Given the description of an element on the screen output the (x, y) to click on. 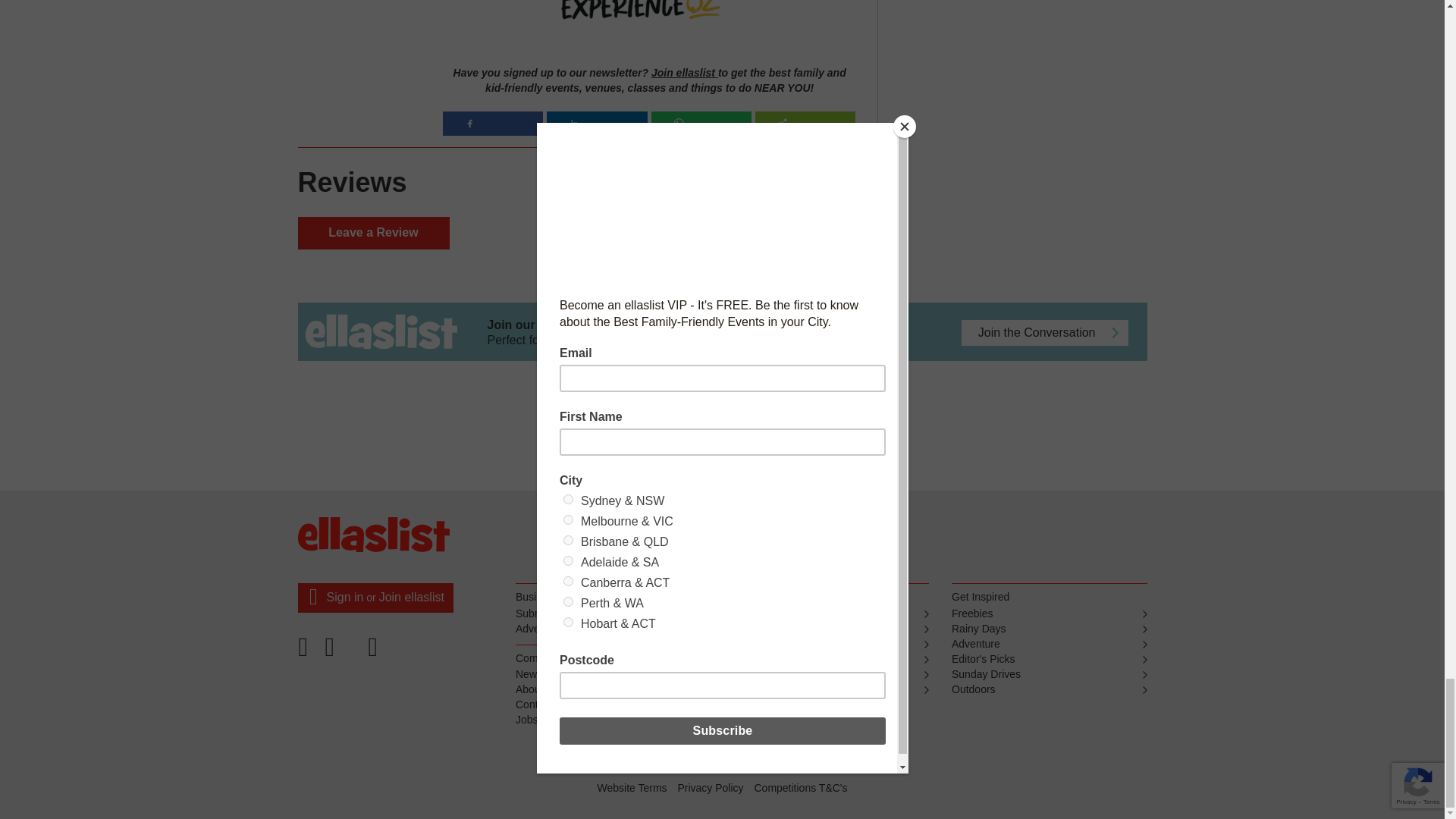
Instagram (375, 652)
Leave a Review (372, 233)
Join ellaslist (411, 596)
Sign in (344, 596)
Facebook (306, 652)
Leave a Review (372, 233)
Join ellaslist  (683, 72)
Pinterest (341, 652)
